Given the description of an element on the screen output the (x, y) to click on. 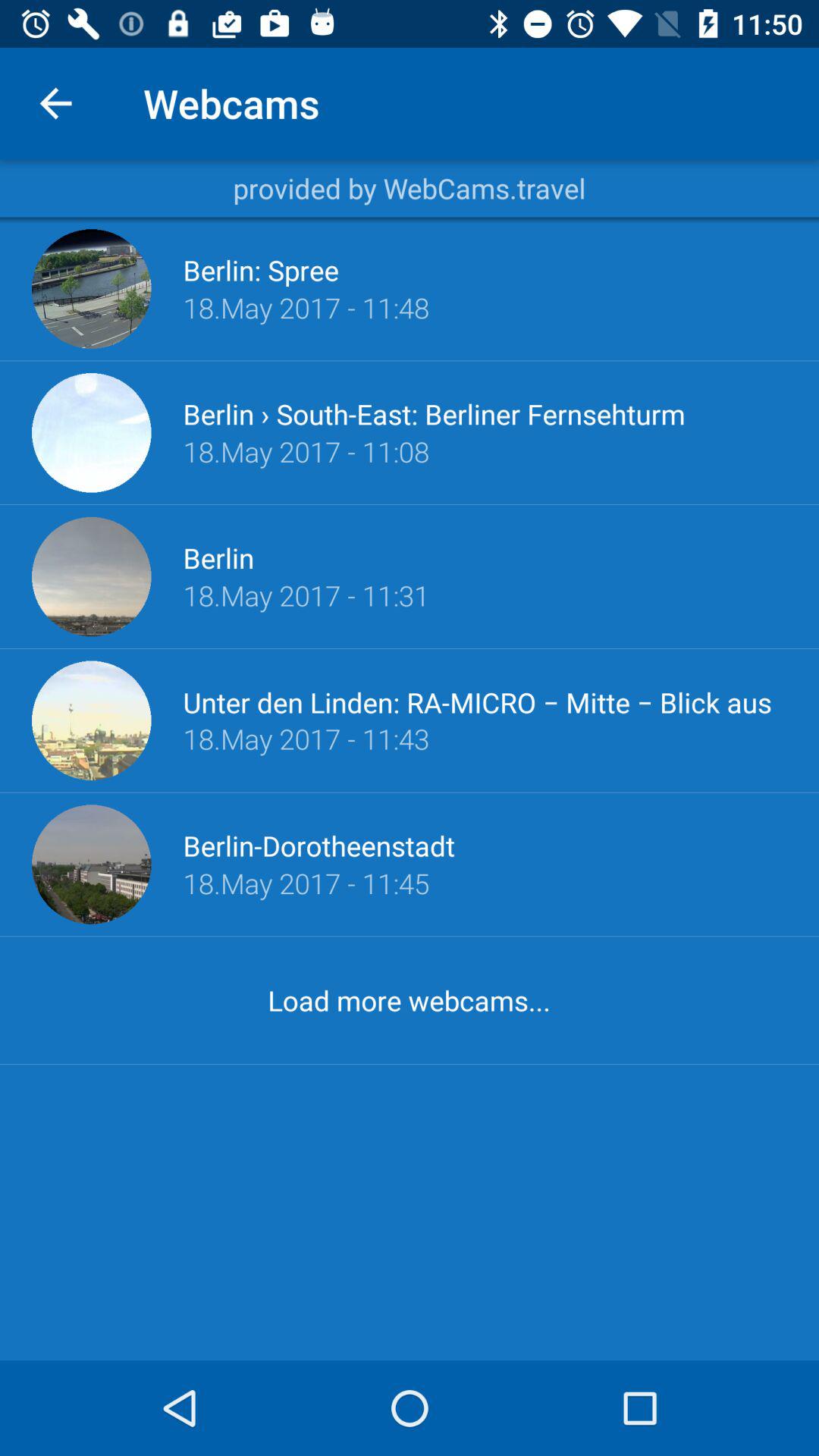
swipe to load more webcams... icon (408, 1000)
